Given the description of an element on the screen output the (x, y) to click on. 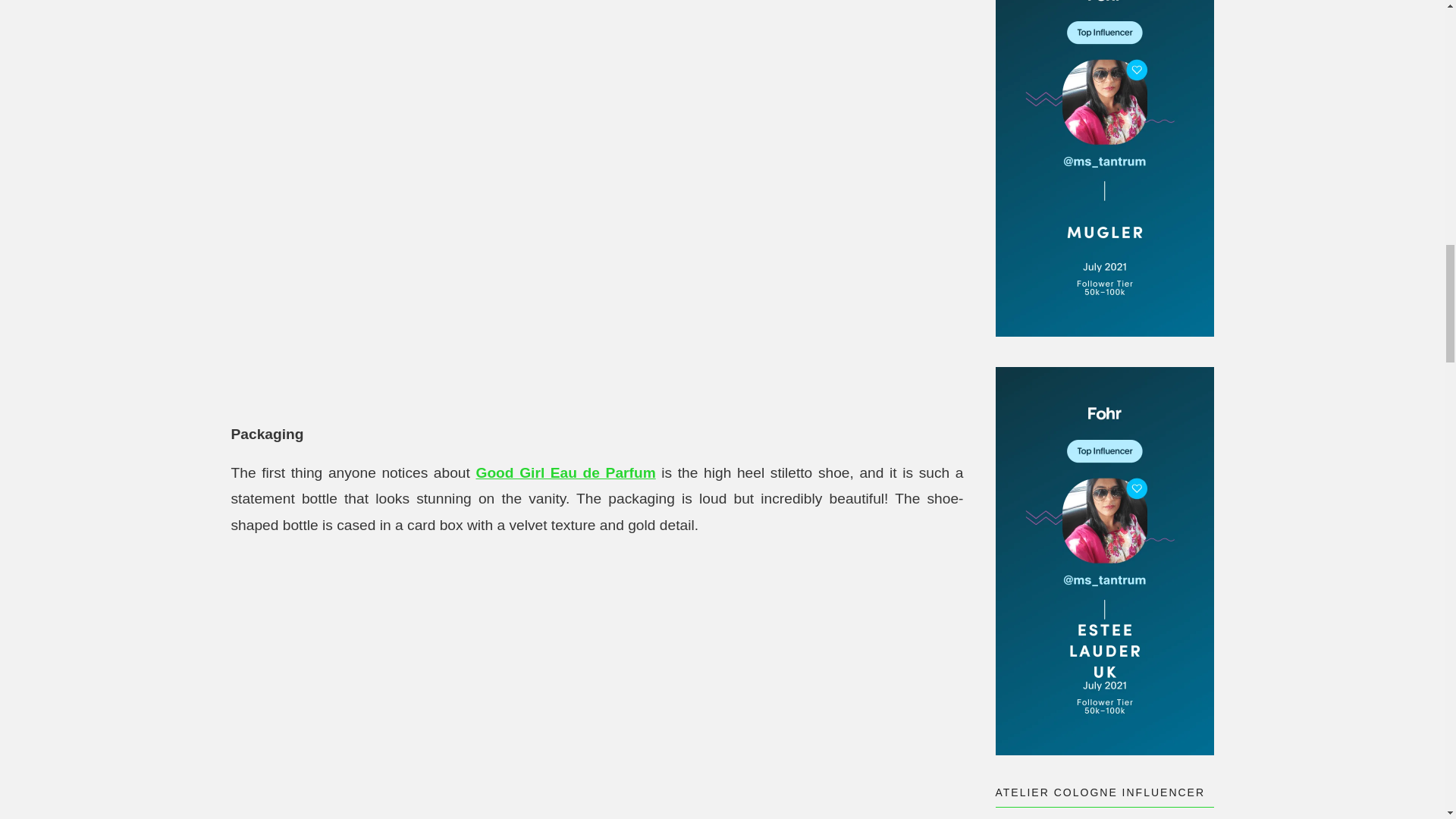
Good Girl Eau de Parfum (565, 472)
